Given the description of an element on the screen output the (x, y) to click on. 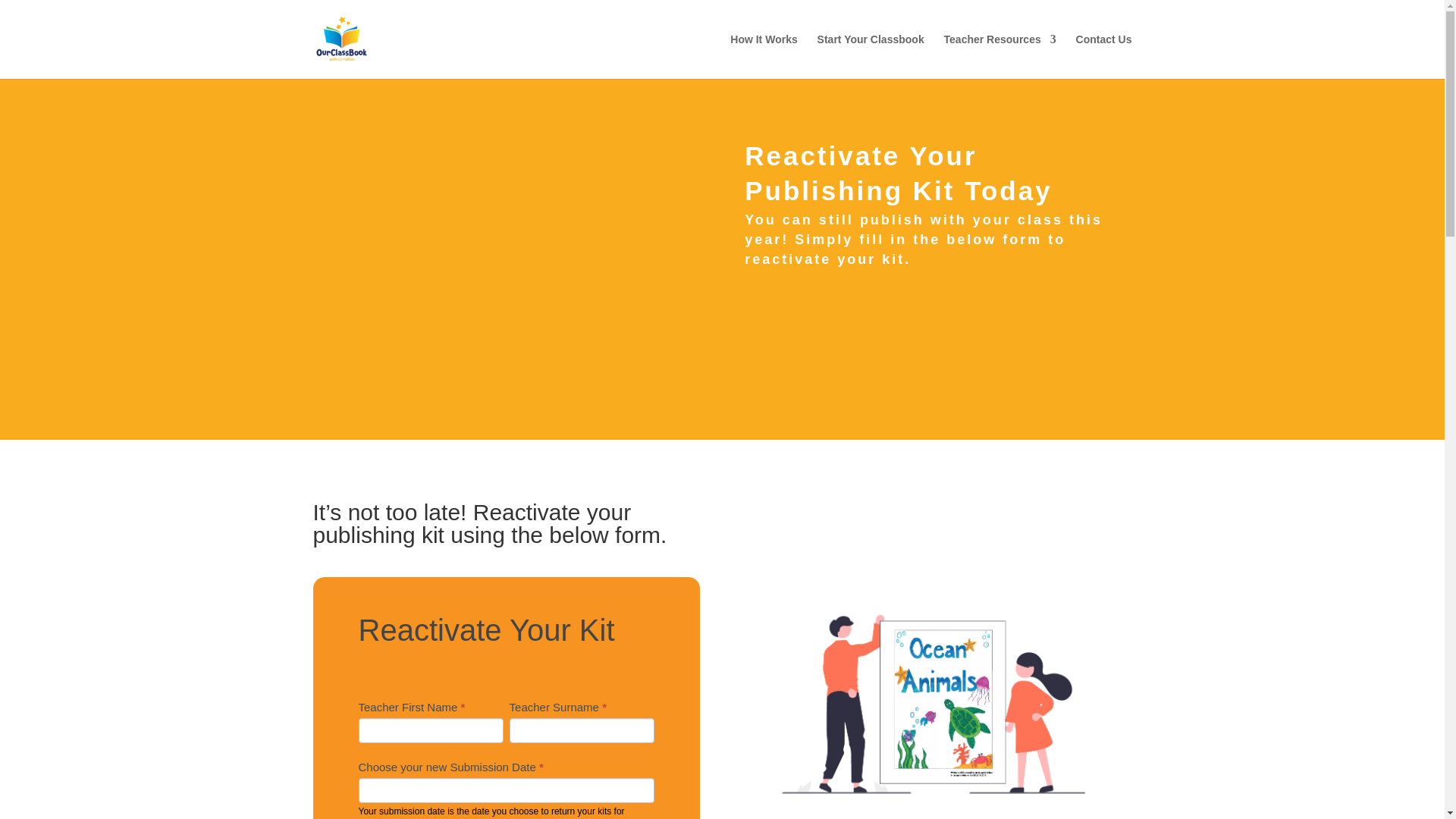
Start Your Classbook (870, 56)
How It Works (763, 56)
Contact Us (1103, 56)
Teacher Resources (1000, 56)
